Given the description of an element on the screen output the (x, y) to click on. 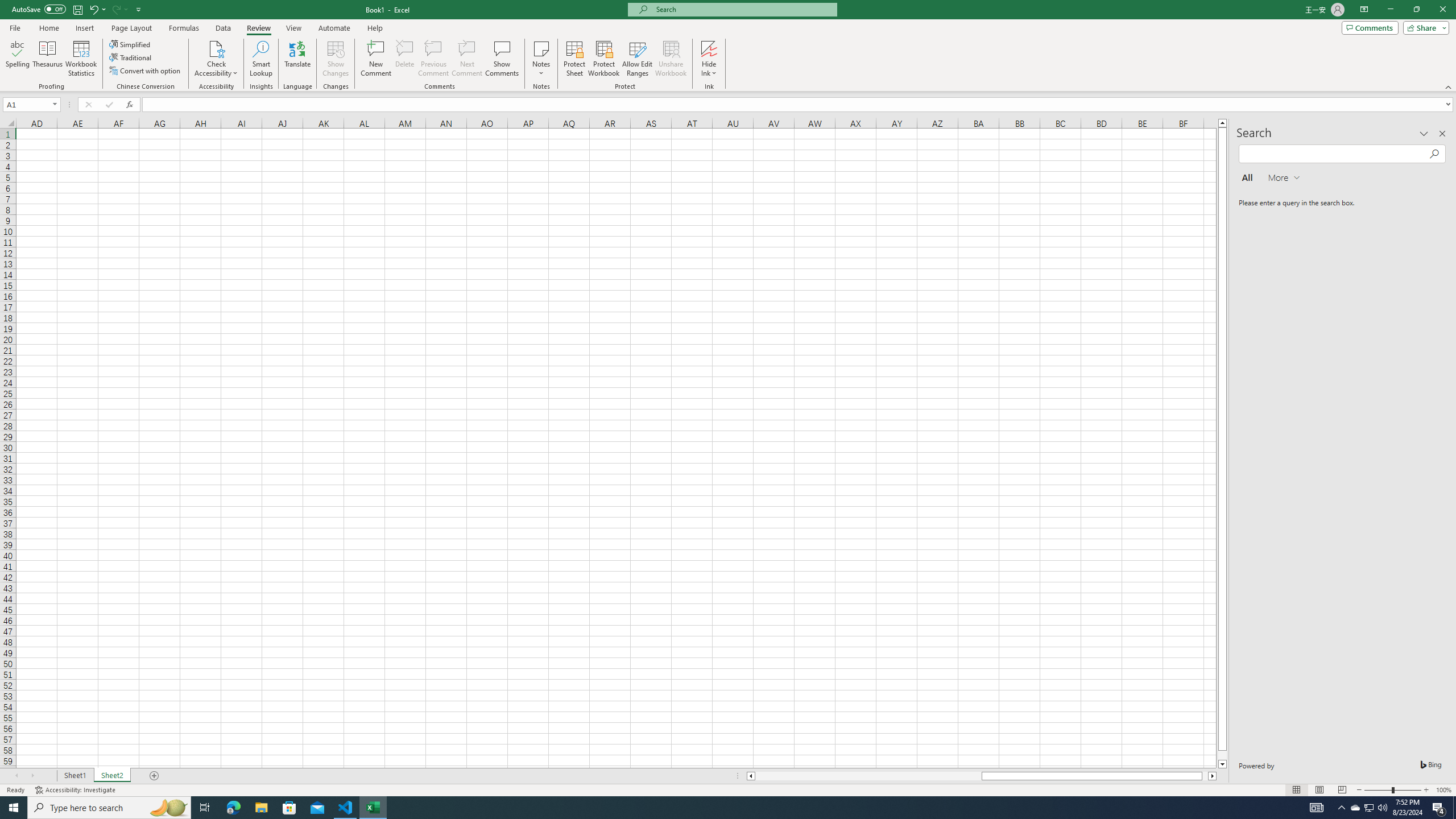
Translate (297, 58)
Allow Edit Ranges (637, 58)
Next Comment (466, 58)
Traditional (131, 56)
